Given the description of an element on the screen output the (x, y) to click on. 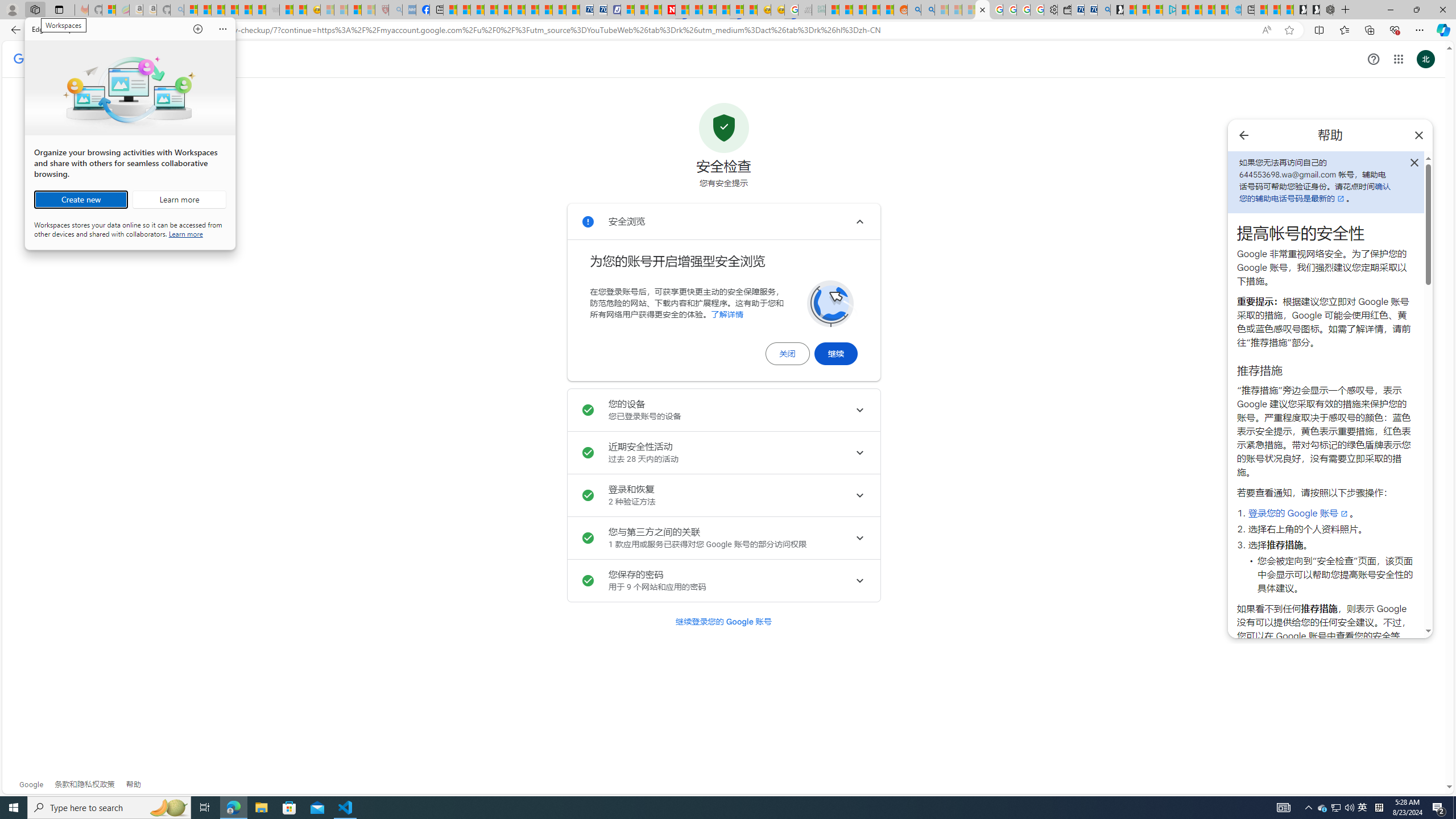
12 Popular Science Lies that Must be Corrected - Sleeping (368, 9)
File Explorer (261, 807)
Start (13, 807)
World - MSN (477, 9)
Microsoft Store (289, 807)
Microsoft Edge - 1 running window (233, 807)
